Given the description of an element on the screen output the (x, y) to click on. 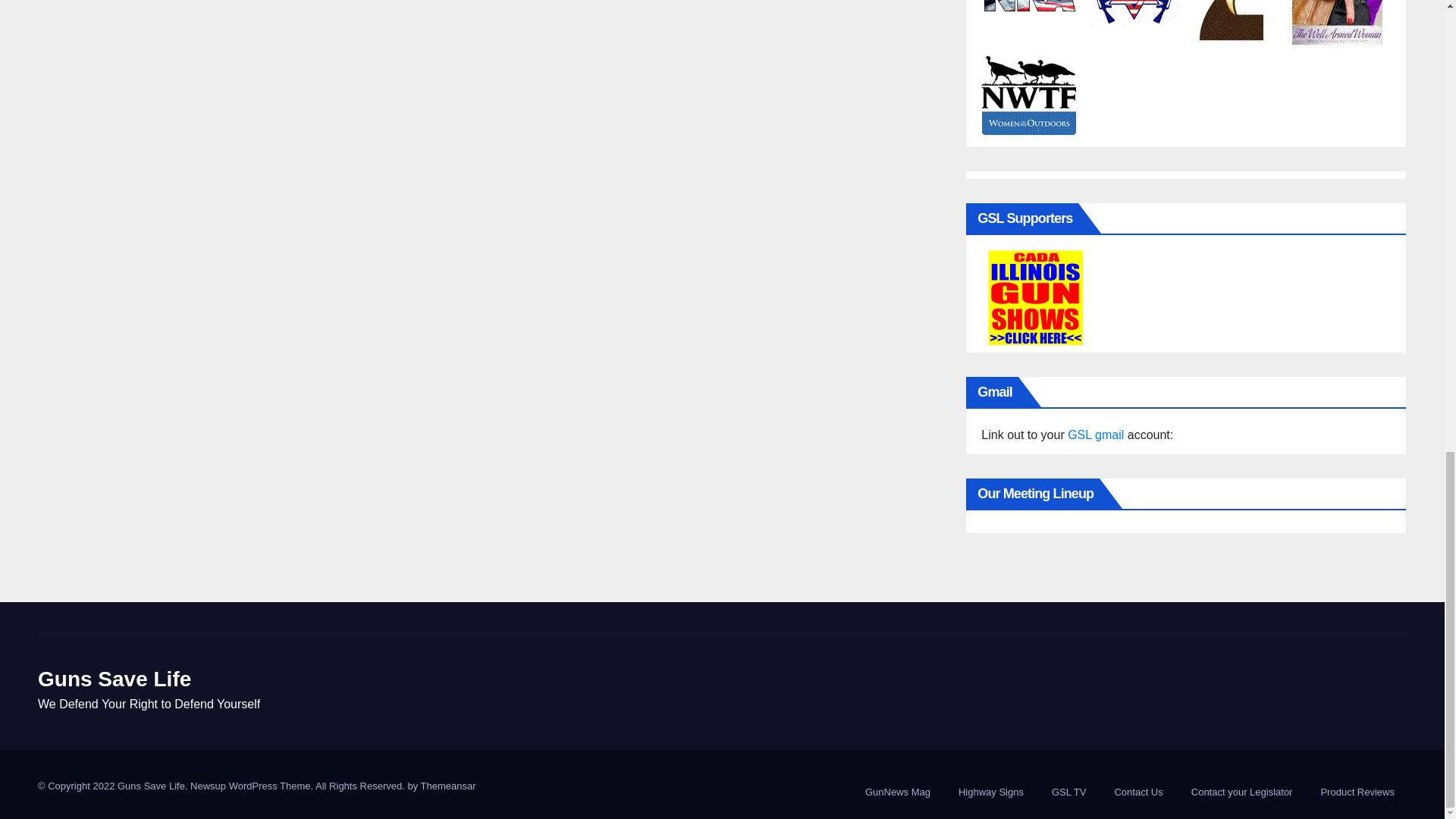
GSL gmail (1095, 434)
GSL TV (1069, 791)
Themeansar (448, 785)
Contact Us (1138, 791)
GunNews Mag (897, 791)
Guns Save Life (113, 679)
Contact your Legislator (1241, 791)
Highway Signs (990, 791)
Product Reviews (1356, 791)
